Given the description of an element on the screen output the (x, y) to click on. 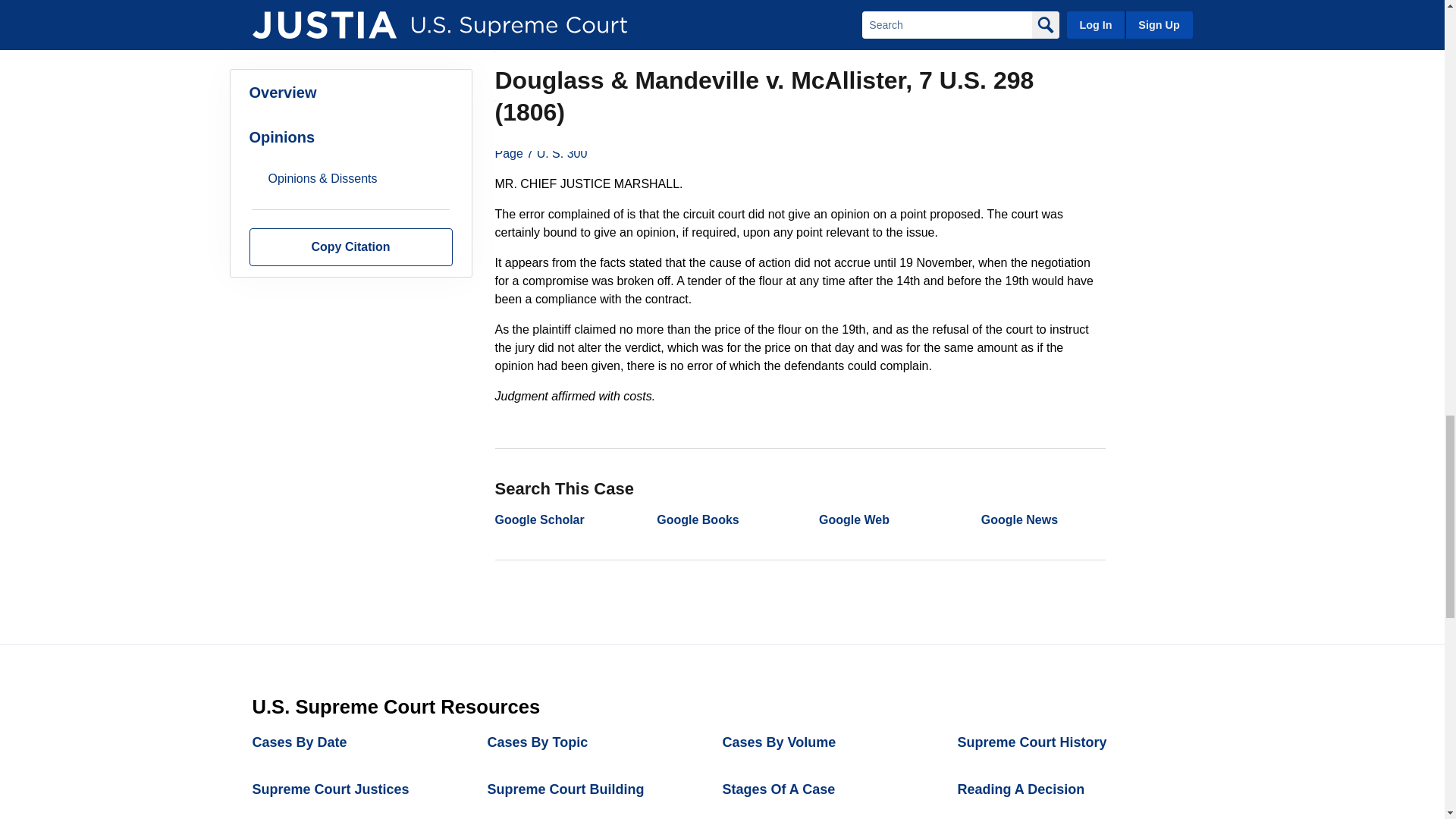
Law - Google Web (853, 519)
Law - Google Scholar (539, 519)
Law - Google News (1019, 519)
Law - Google Books (697, 519)
